Given the description of an element on the screen output the (x, y) to click on. 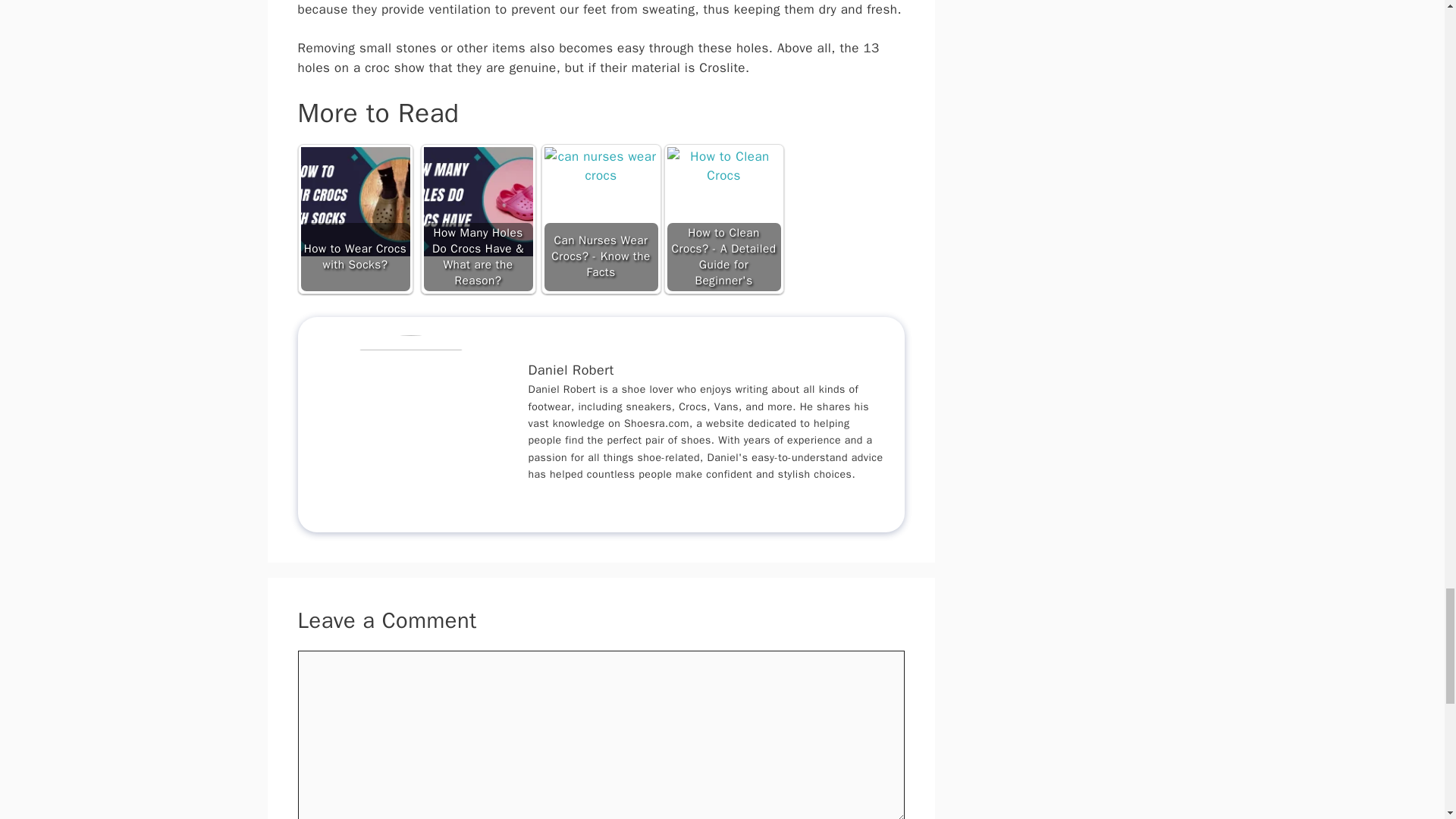
How to Clean Crocs? - A Detailed Guide for Beginner's (723, 204)
Can Nurses Wear Crocs? - Know the Facts (601, 204)
How to Wear Crocs with Socks? (354, 201)
